Given the description of an element on the screen output the (x, y) to click on. 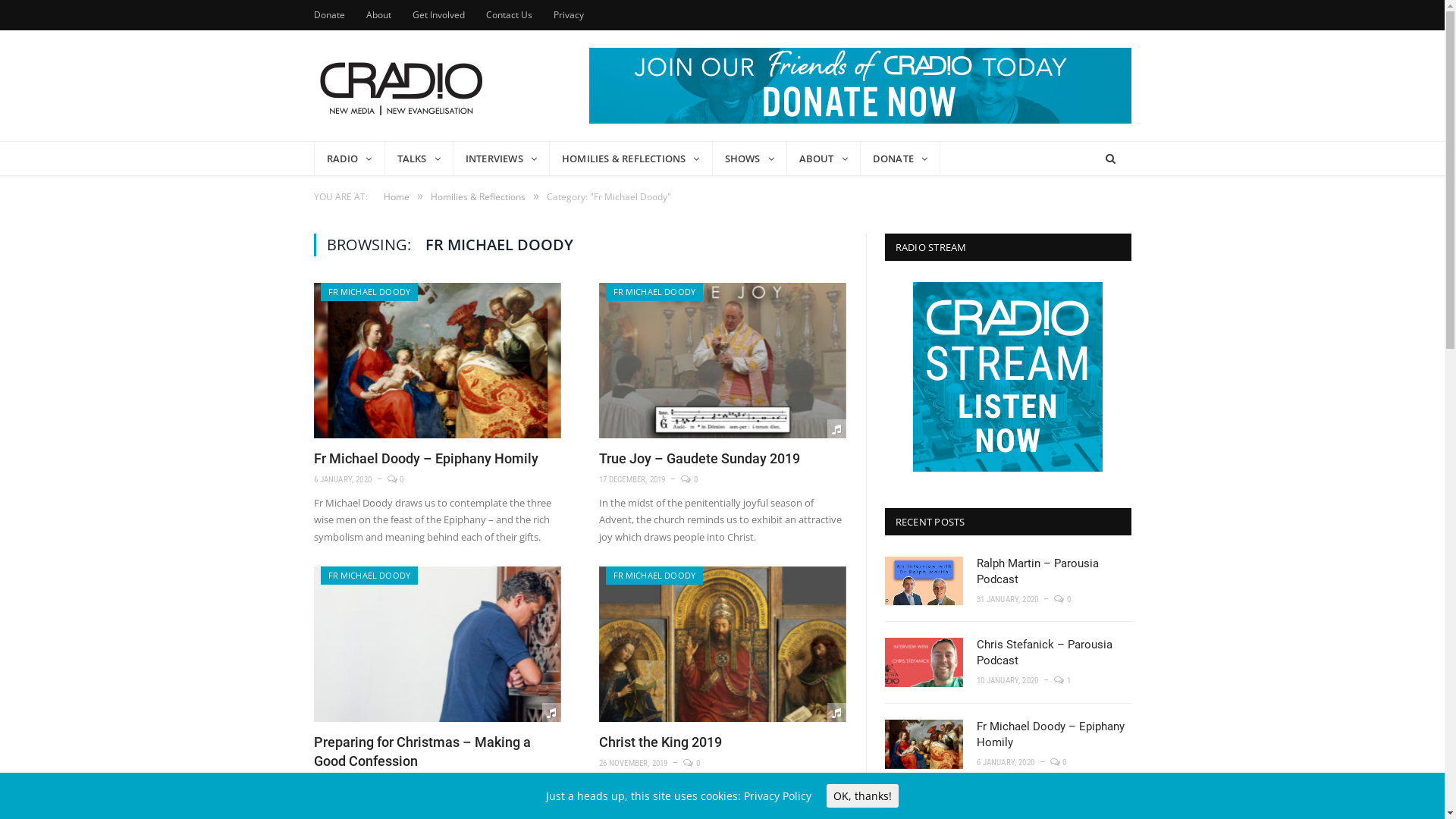
SHOWS Element type: text (749, 158)
FR MICHAEL DOODY Element type: text (368, 291)
INTERVIEWS Element type: text (501, 158)
Get Involved Element type: text (438, 14)
FR MICHAEL DOODY Element type: text (653, 291)
DONATE Element type: text (900, 158)
Search Element type: hover (1109, 158)
0 Element type: text (691, 763)
Christ the King 2019 Element type: hover (722, 643)
0 Element type: text (400, 782)
0 Element type: text (688, 479)
RADIO Element type: text (349, 158)
About Element type: text (377, 14)
FR MICHAEL DOODY Element type: text (653, 574)
0 Element type: text (395, 479)
Privacy Policy Element type: text (777, 795)
Home Element type: text (396, 196)
0 Element type: text (1058, 762)
Christ the King 2019 Element type: text (660, 741)
OK, thanks! Element type: text (862, 795)
Donate Element type: text (329, 14)
HOMILIES & REFLECTIONS Element type: text (630, 158)
ABOUT Element type: text (823, 158)
1 Element type: text (1062, 680)
Contact Us Element type: text (508, 14)
Homilies & Reflections Element type: text (477, 196)
TALKS Element type: text (419, 158)
0 Element type: text (1062, 599)
Privacy Element type: text (568, 14)
FR MICHAEL DOODY Element type: text (368, 574)
Cradio Element type: hover (400, 84)
